Given the description of an element on the screen output the (x, y) to click on. 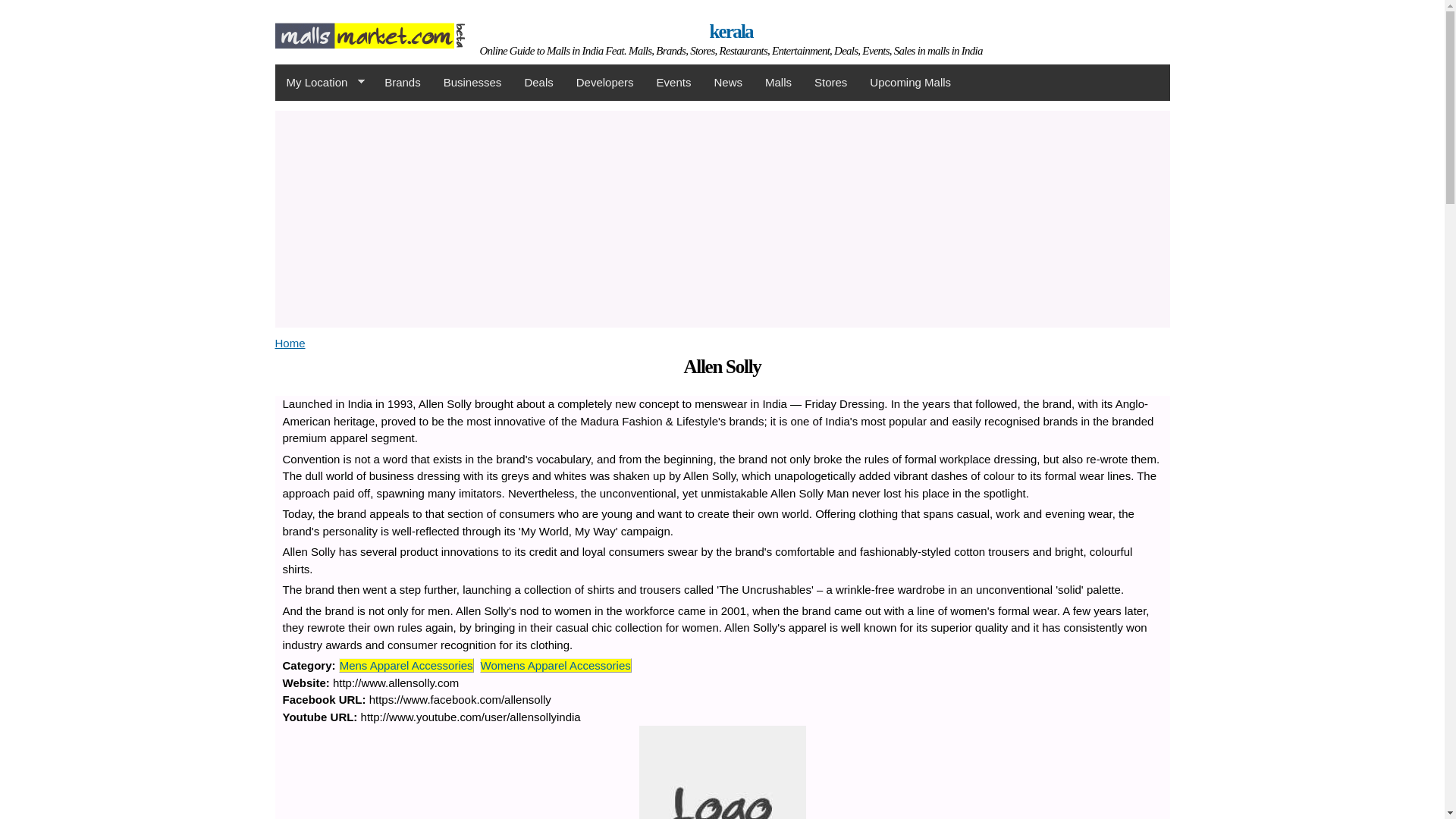
The best deals from stores and malls in your city. (538, 82)
kerala (369, 39)
Upcoming Malls (910, 82)
Events (674, 82)
Mens Apparel Accessories (406, 665)
Malls (778, 82)
Developers (604, 82)
Deals (538, 82)
Brands (402, 82)
Home (730, 31)
News (727, 82)
Skip to main content (688, 1)
Home (289, 342)
Businesses (472, 82)
kerala (730, 31)
